Given the description of an element on the screen output the (x, y) to click on. 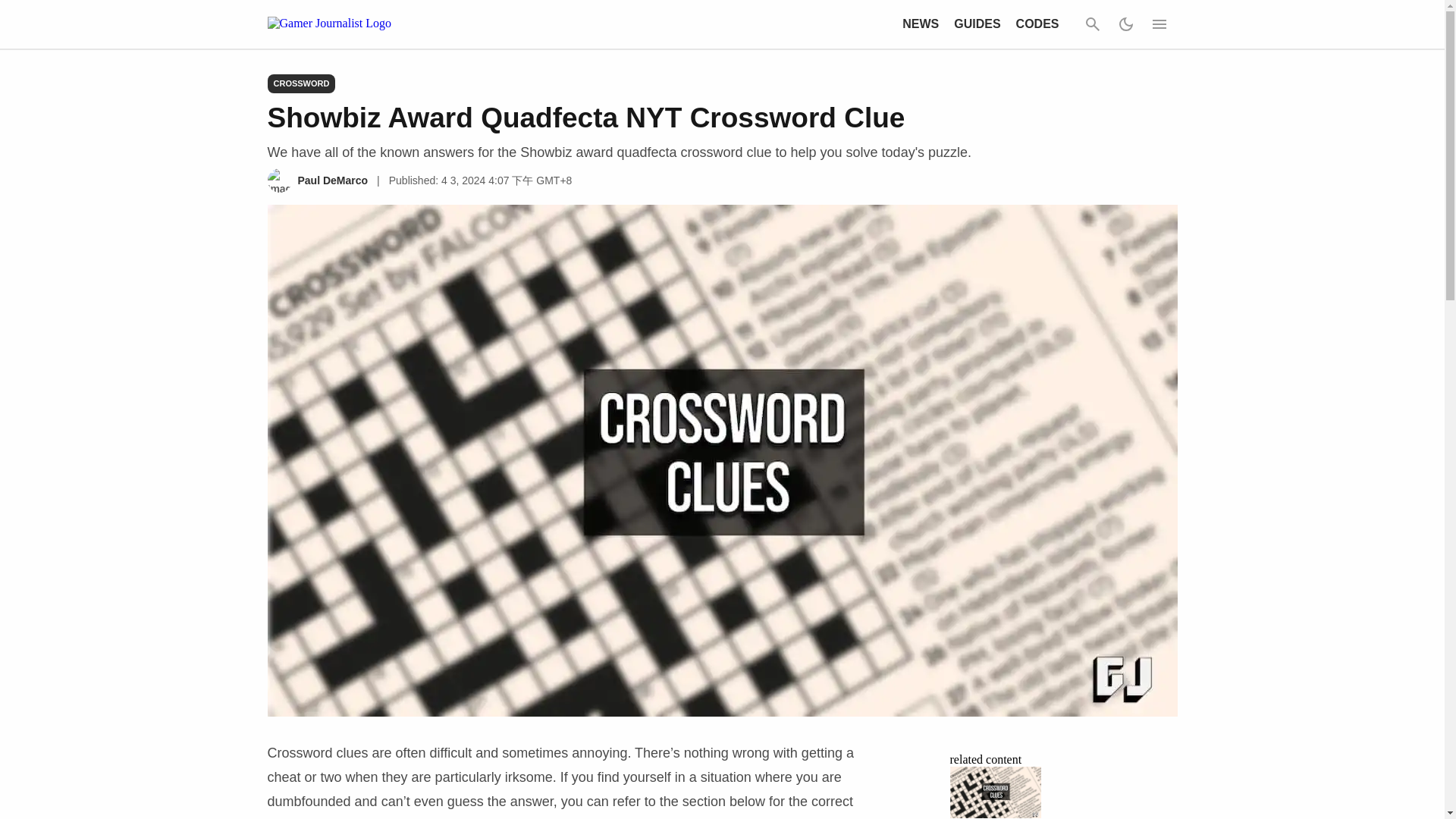
NEWS (920, 23)
Expand Menu (1157, 24)
GUIDES (976, 23)
CODES (1037, 23)
Dark Mode (1124, 24)
Search (1091, 24)
